Given the description of an element on the screen output the (x, y) to click on. 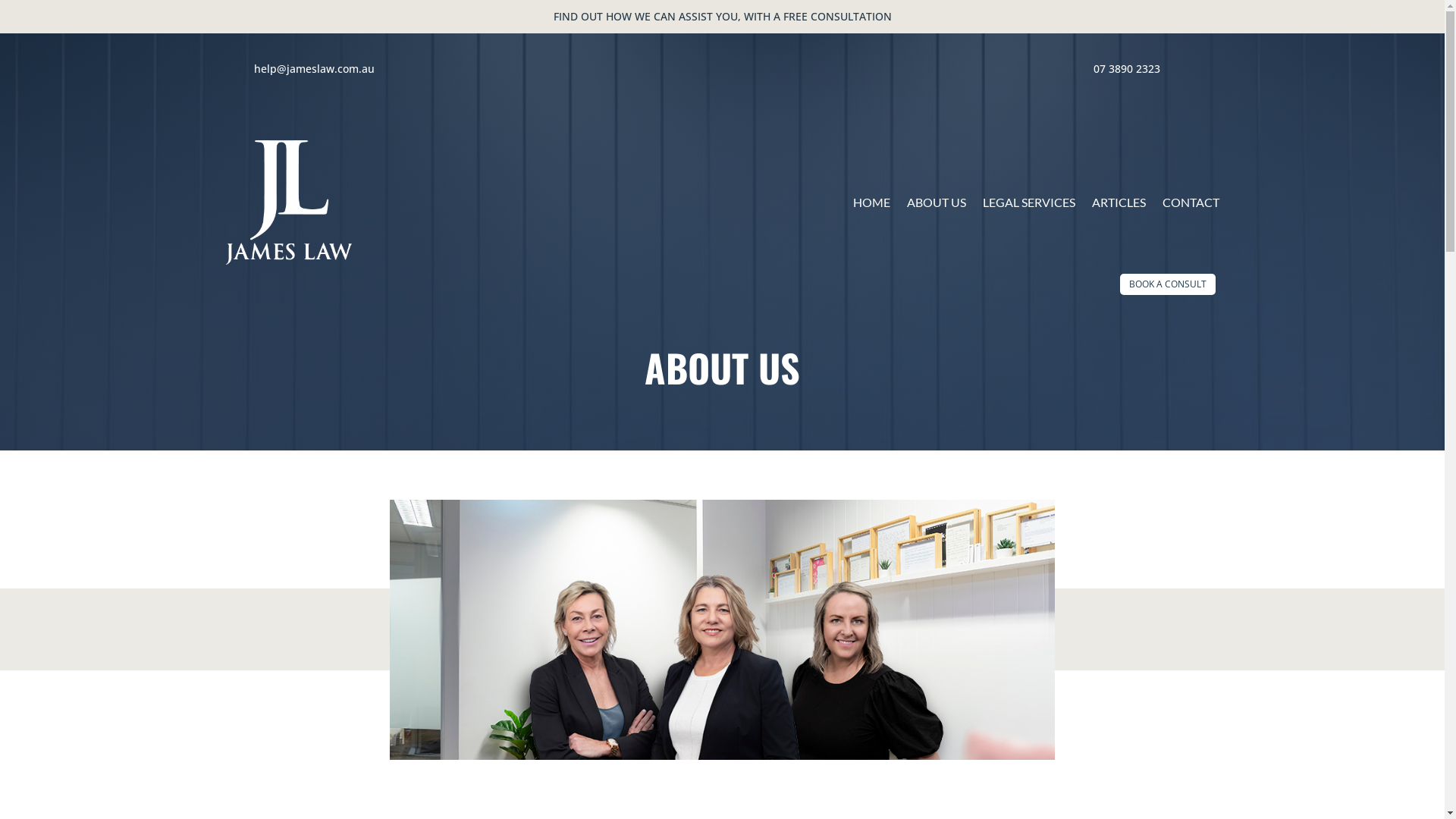
help@jameslaw.com.au Element type: text (313, 68)
ABOUT US Element type: text (936, 202)
BOOK A CONSULT Element type: text (1166, 283)
FIND OUT HOW WE CAN ASSIST YOU, WITH A FREE CONSULTATION Element type: text (722, 16)
07 3890 2323 Element type: text (1126, 68)
HOME Element type: text (870, 202)
ARTICLES Element type: text (1118, 202)
LEGAL SERVICES Element type: text (1028, 202)
James Law - Group of 3 staff Element type: hover (721, 629)
CONTACT Element type: text (1189, 202)
